Given the description of an element on the screen output the (x, y) to click on. 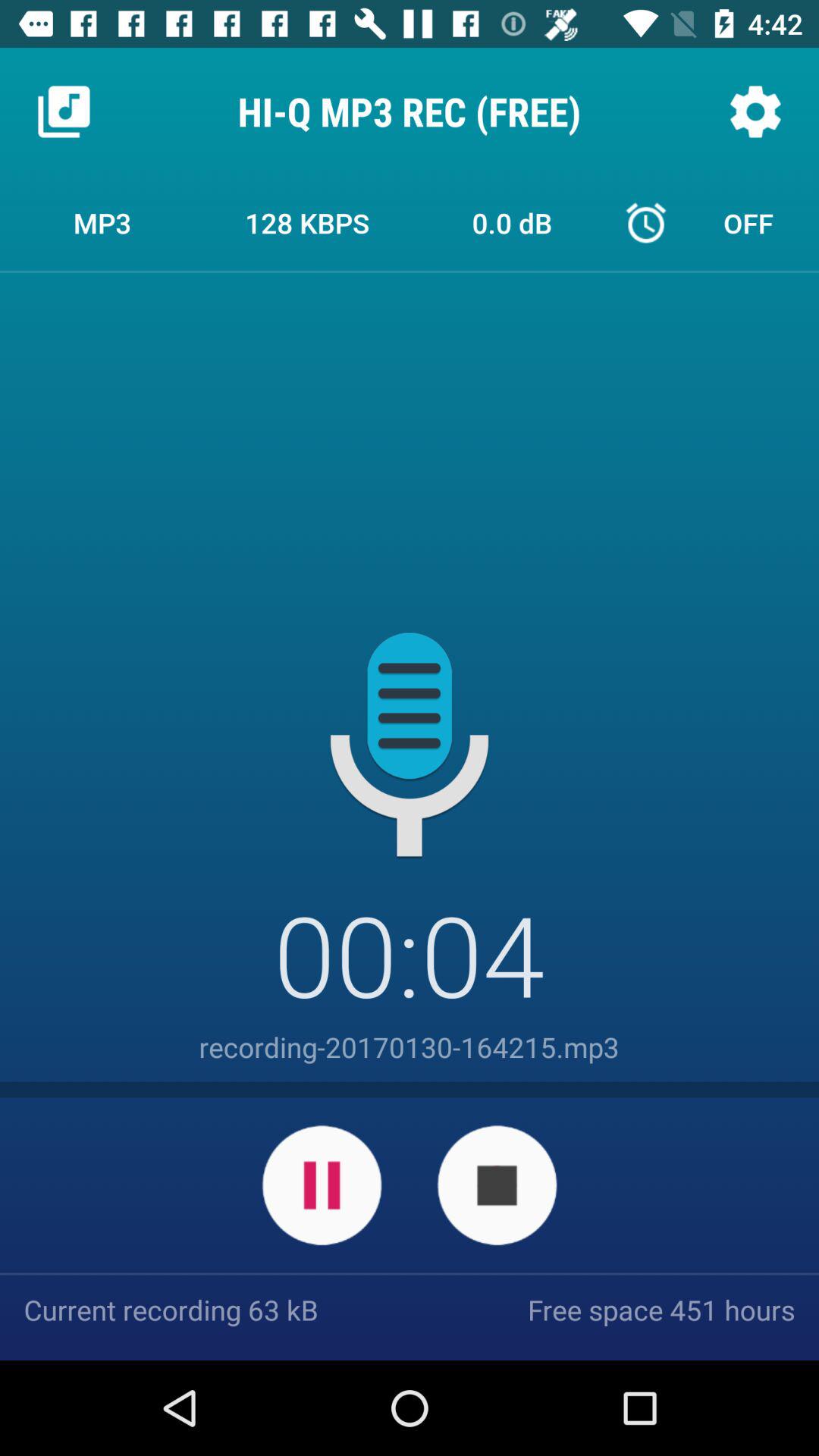
choose the item next to off item (511, 222)
